Given the description of an element on the screen output the (x, y) to click on. 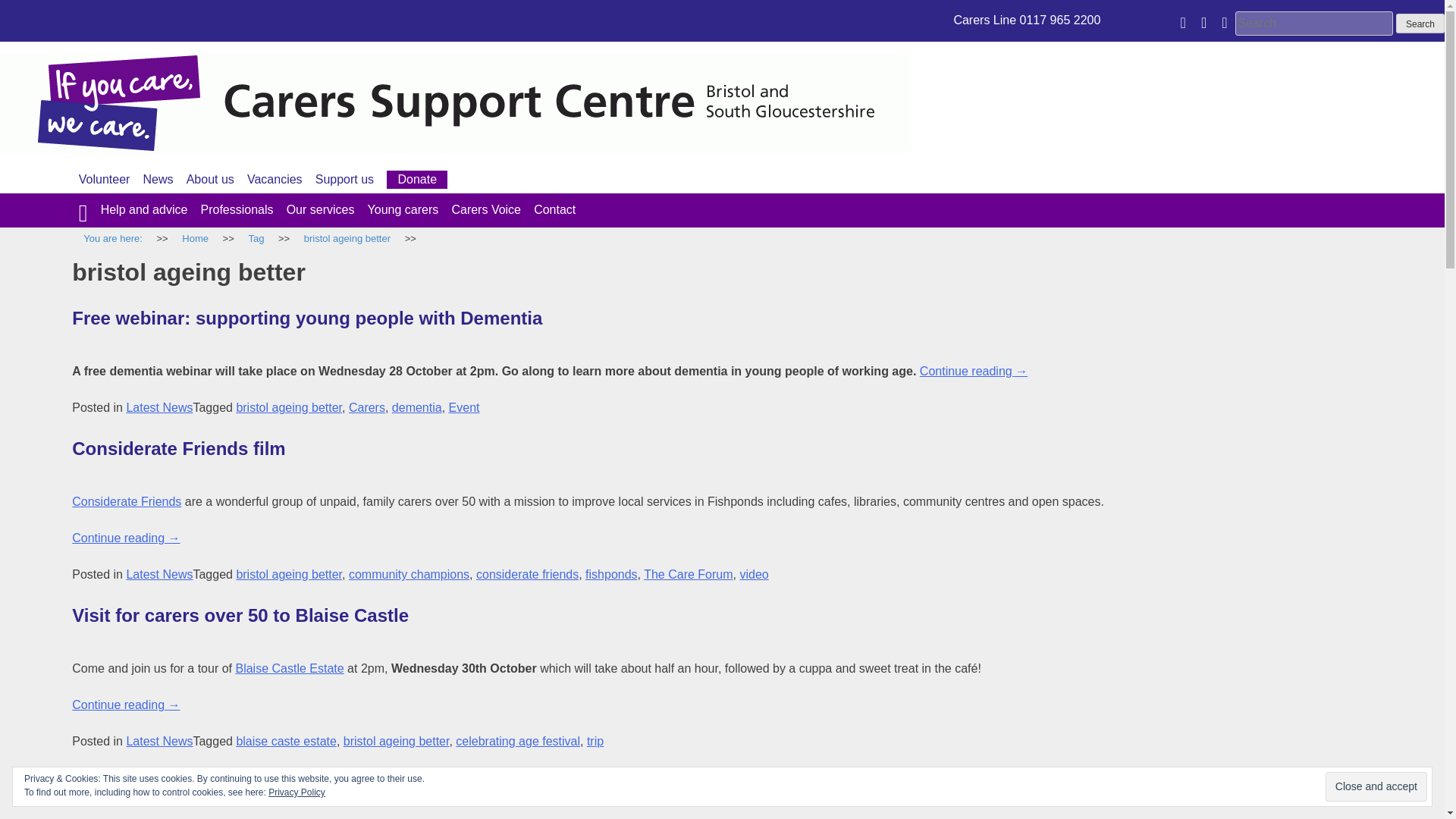
Home (194, 238)
Latest News (158, 407)
Carers (367, 407)
Home (194, 238)
Free webinar: supporting young people with Dementia (306, 317)
Volunteer (104, 179)
Event (464, 407)
bristol ageing better (347, 238)
Professionals (236, 209)
Considerate Friends (125, 501)
News (157, 179)
Donate (416, 179)
Carers Voice (486, 209)
You are here: (112, 238)
Our services (320, 209)
